Given the description of an element on the screen output the (x, y) to click on. 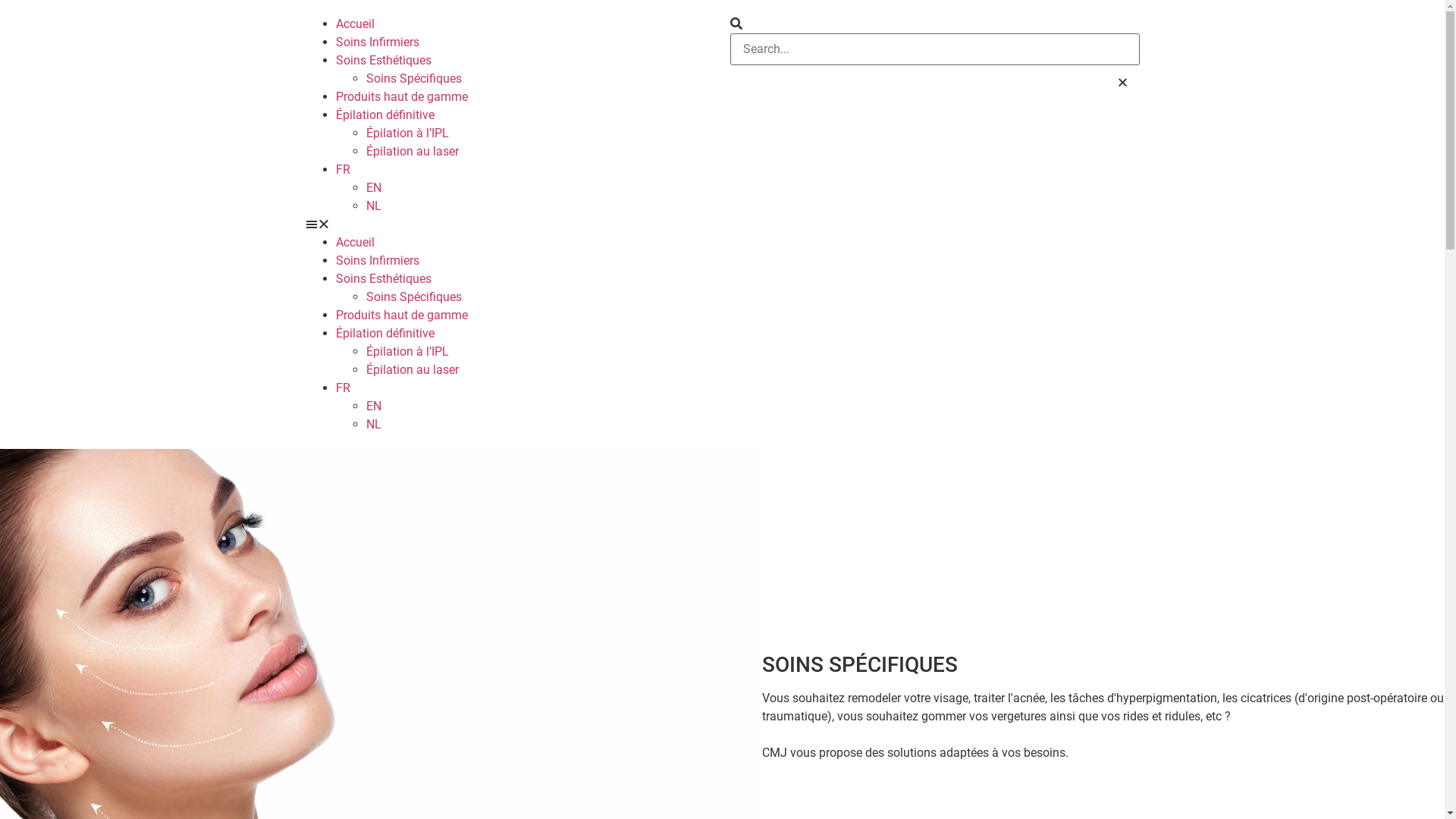
FR Element type: text (342, 169)
Produits haut de gamme Element type: text (401, 96)
Soins Infirmiers Element type: text (376, 41)
Accueil Element type: text (354, 23)
NL Element type: text (372, 424)
EN Element type: text (372, 405)
NL Element type: text (372, 205)
Soins Infirmiers Element type: text (376, 260)
FR Element type: text (342, 387)
Produits haut de gamme Element type: text (401, 314)
Accueil Element type: text (354, 242)
EN Element type: text (372, 187)
